Given the description of an element on the screen output the (x, y) to click on. 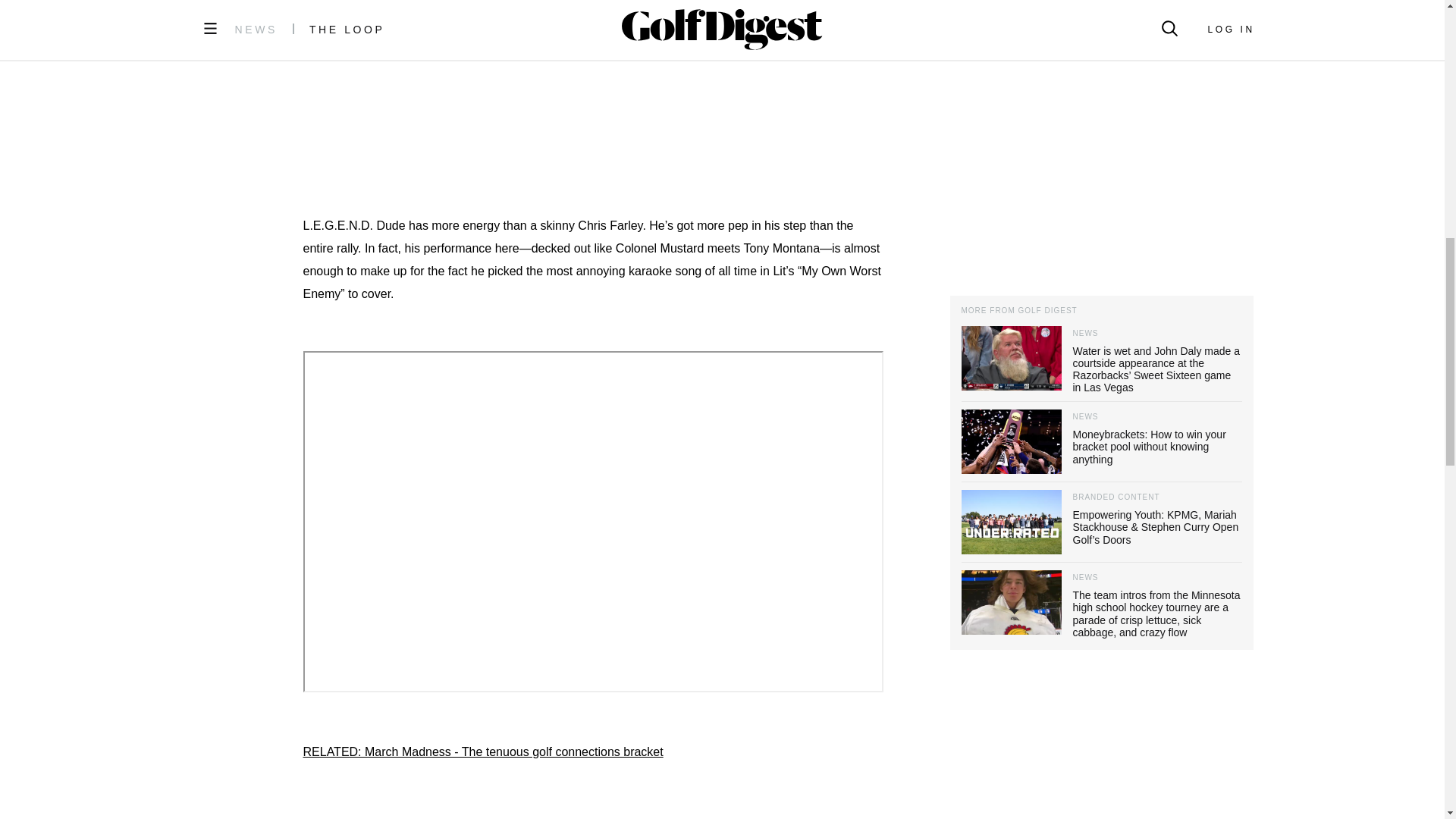
3rd party ad content (593, 134)
